Given the description of an element on the screen output the (x, y) to click on. 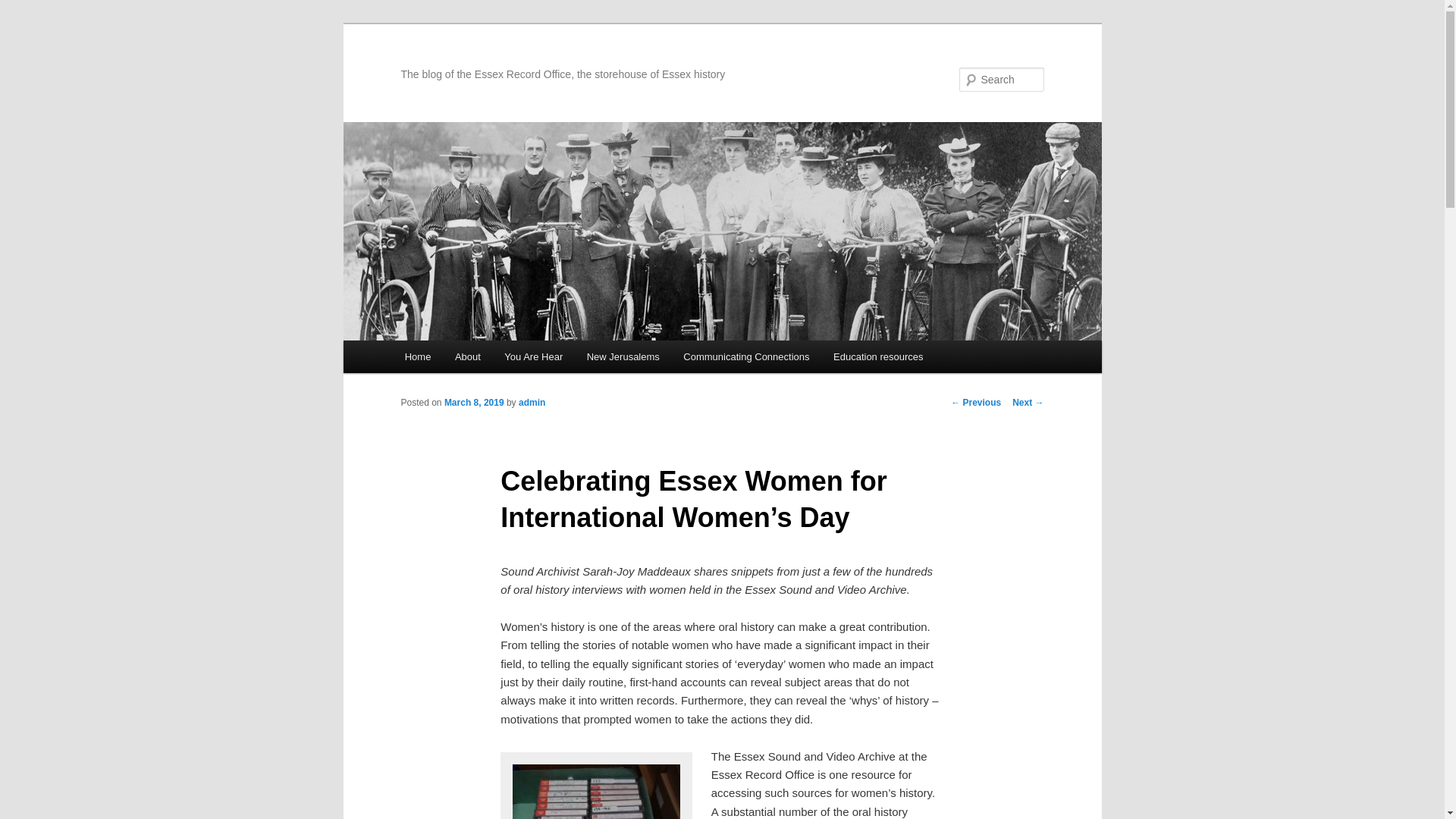
admin (531, 402)
Home (417, 356)
New Jerusalems (623, 356)
About (467, 356)
March 8, 2019 (473, 402)
Search (24, 8)
You Are Hear (534, 356)
Communicating Connections (746, 356)
9:30 am (473, 402)
Education resources (877, 356)
View all posts by admin (531, 402)
